Given the description of an element on the screen output the (x, y) to click on. 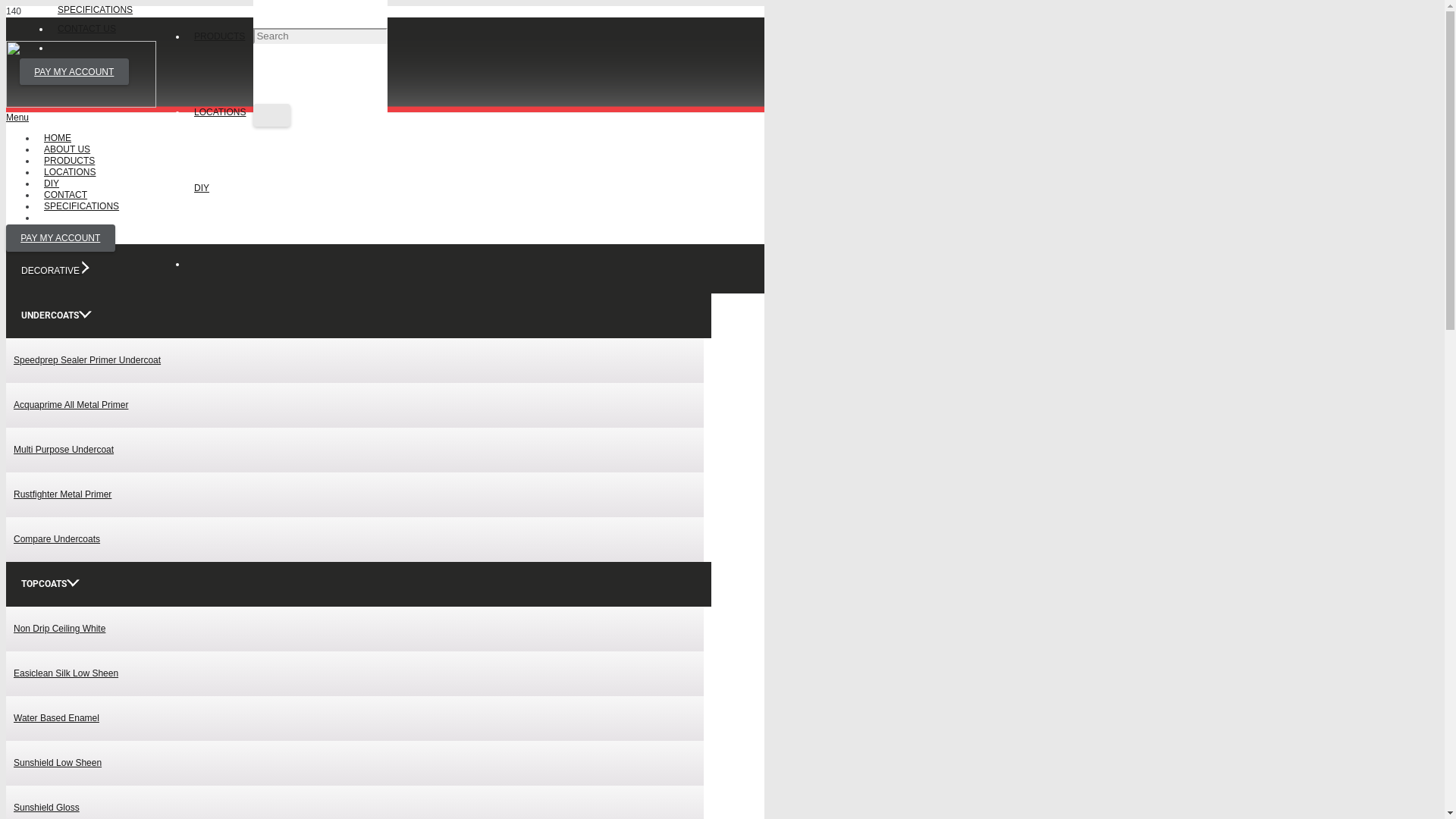
LOCATIONS Element type: text (219, 111)
PRODUCTS Element type: text (69, 160)
LOCATIONS Element type: text (69, 171)
Sunshield Gloss Element type: text (46, 807)
SPECIFICATIONS Element type: text (81, 205)
PRODUCTS Element type: text (219, 36)
CONTACT US Element type: text (86, 27)
CONTACT Element type: text (65, 194)
Menu Element type: text (385, 117)
Compare Undercoats Element type: text (56, 538)
Multi Purpose Undercoat Element type: text (63, 449)
DECORATIVE Element type: text (55, 270)
Non Drip Ceiling White Element type: text (59, 628)
Acquaprime All Metal Primer Element type: text (70, 404)
PAY MY ACCOUNT Element type: text (60, 237)
Water Based Enamel Element type: text (56, 717)
ABOUT US Element type: text (66, 149)
DIY Element type: text (51, 183)
HOME Element type: text (57, 137)
PAY MY ACCOUNT Element type: text (73, 71)
Speedprep Sealer Primer Undercoat Element type: text (86, 359)
Rustfighter Metal Primer Element type: text (62, 494)
Easiclean Silk Low Sheen Element type: text (65, 673)
DIY Element type: text (201, 187)
Sunshield Low Sheen Element type: text (57, 762)
SPECIFICATIONS Element type: text (95, 9)
